Given the description of an element on the screen output the (x, y) to click on. 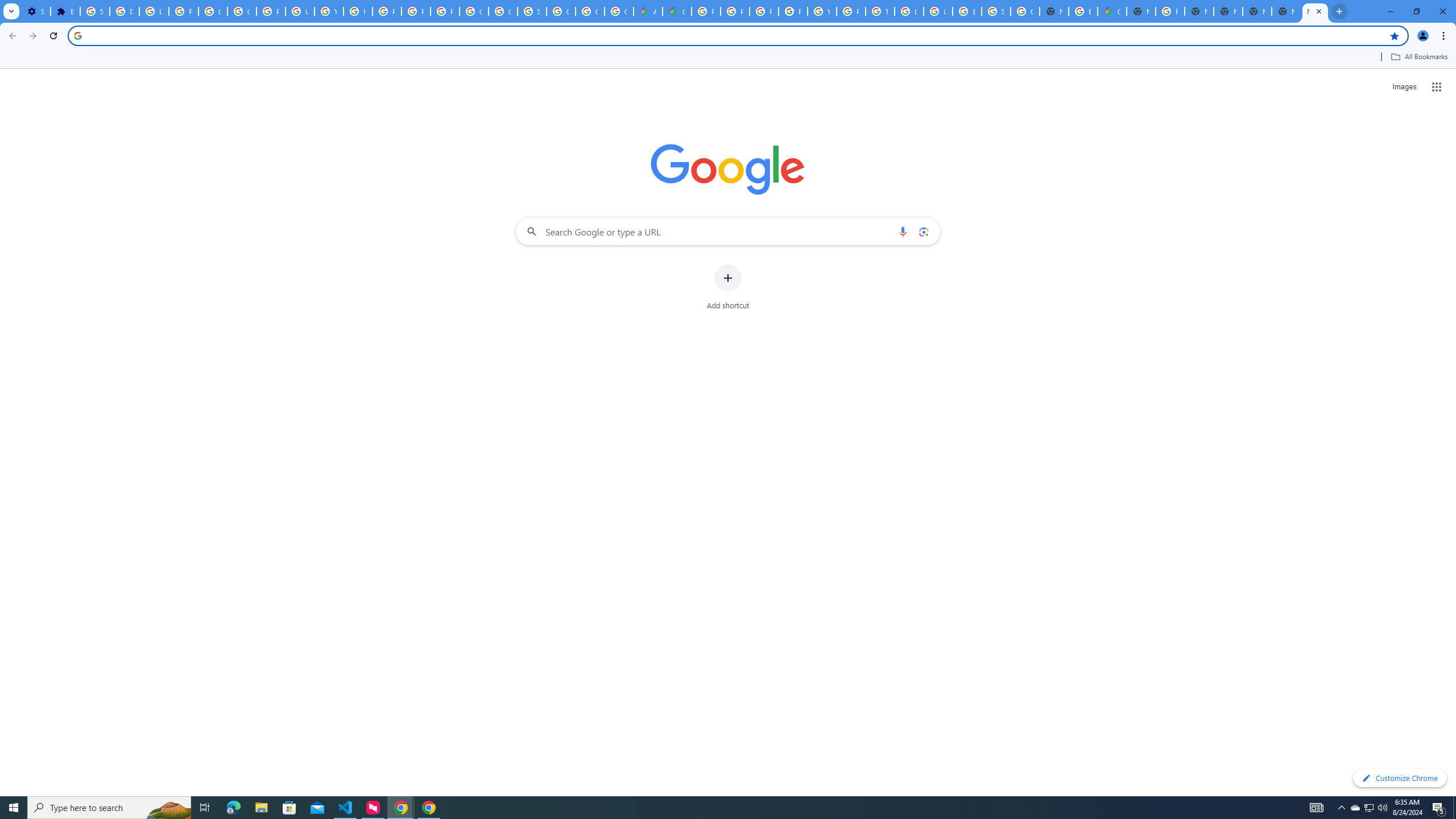
Search by voice (902, 230)
Customize Chrome (1399, 778)
Explore new street-level details - Google Maps Help (1082, 11)
Privacy Help Center - Policies Help (763, 11)
Sign in - Google Accounts (95, 11)
Privacy Help Center - Policies Help (734, 11)
Create your Google Account (619, 11)
YouTube (327, 11)
Search icon (77, 35)
